Given the description of an element on the screen output the (x, y) to click on. 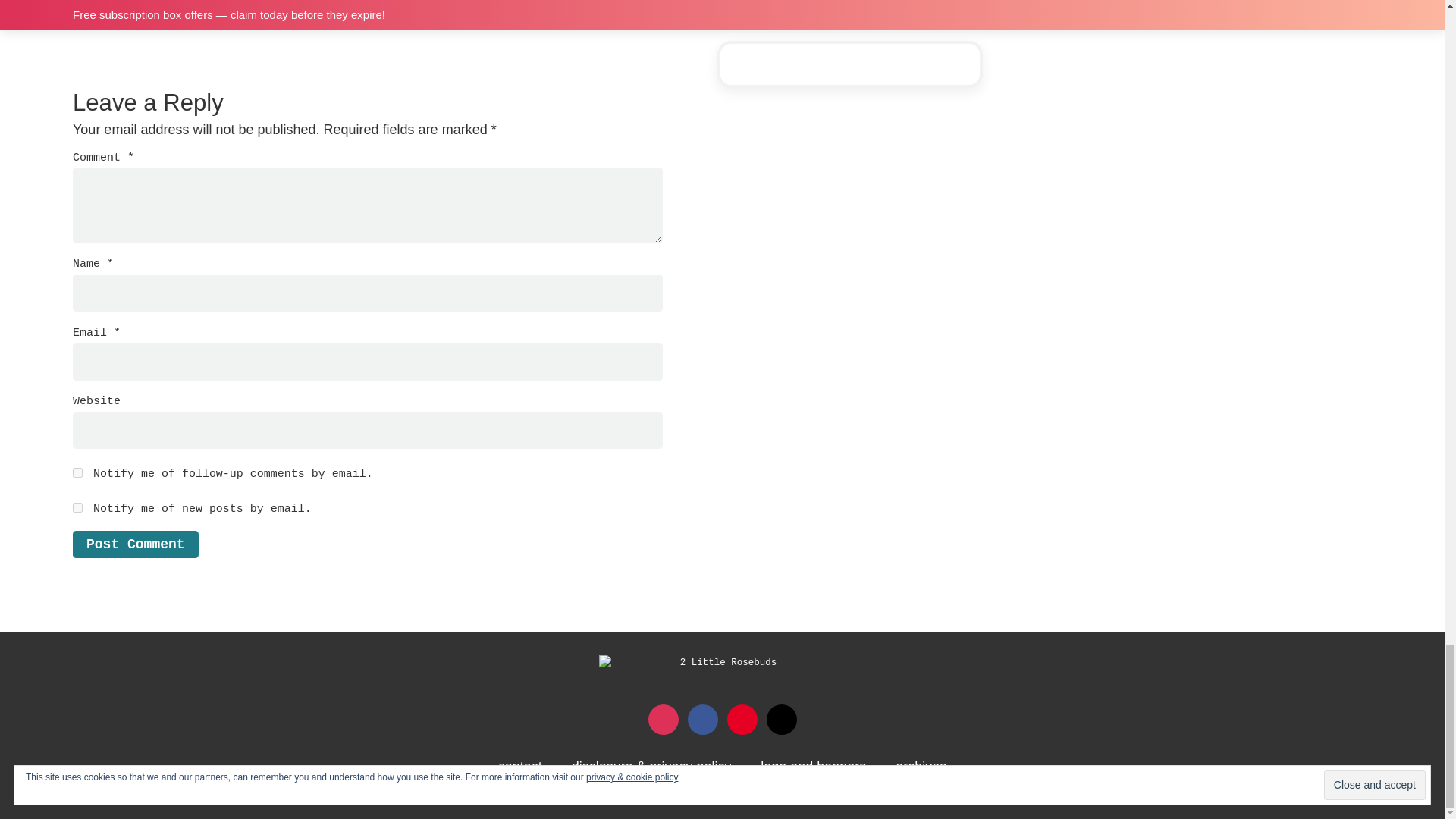
subscribe (77, 507)
Post Comment (135, 543)
subscribe (77, 472)
